Given the description of an element on the screen output the (x, y) to click on. 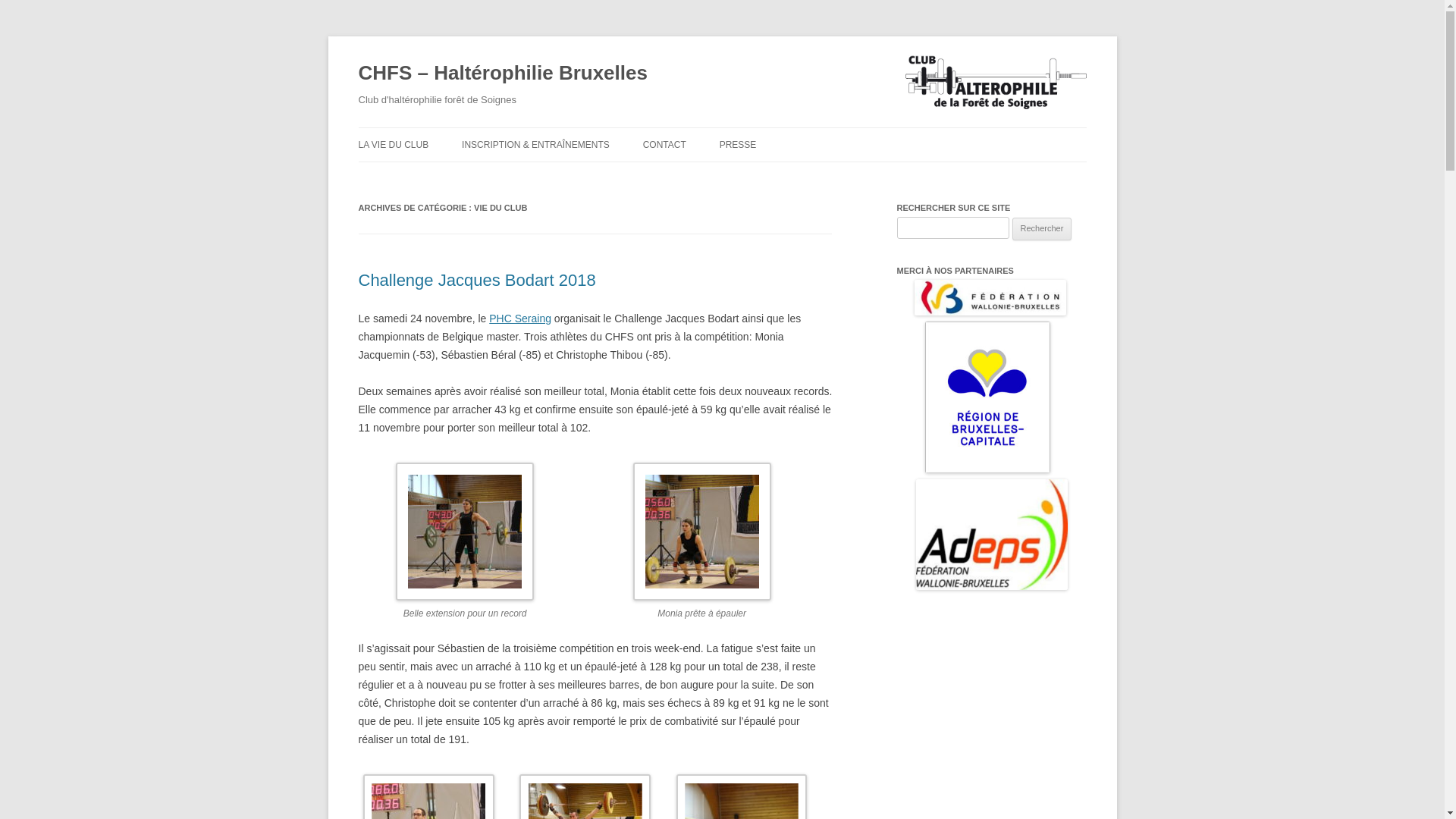
Rechercher Element type: text (1042, 228)
PHC Seraing Element type: text (520, 318)
Aller au contenu Element type: text (721, 127)
CONTACT Element type: text (664, 144)
Challenge Jacques Bodart 2018 Element type: text (476, 279)
LA VIE DU CLUB Element type: text (392, 144)
PRESSE Element type: text (737, 144)
